Given the description of an element on the screen output the (x, y) to click on. 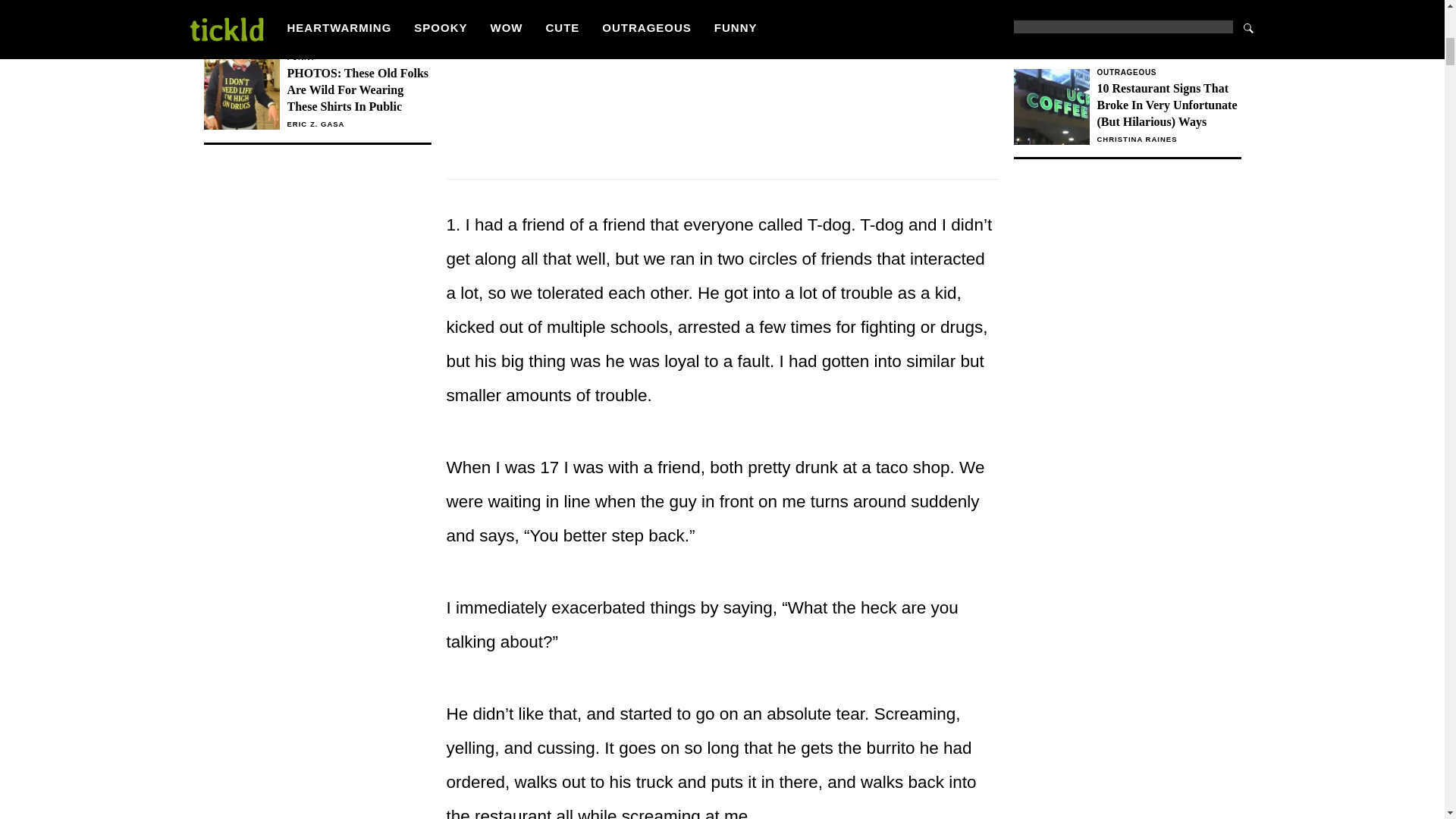
Outrageous (1126, 27)
Male Karen Is Not Who He Seems! (1168, 72)
